Given the description of an element on the screen output the (x, y) to click on. 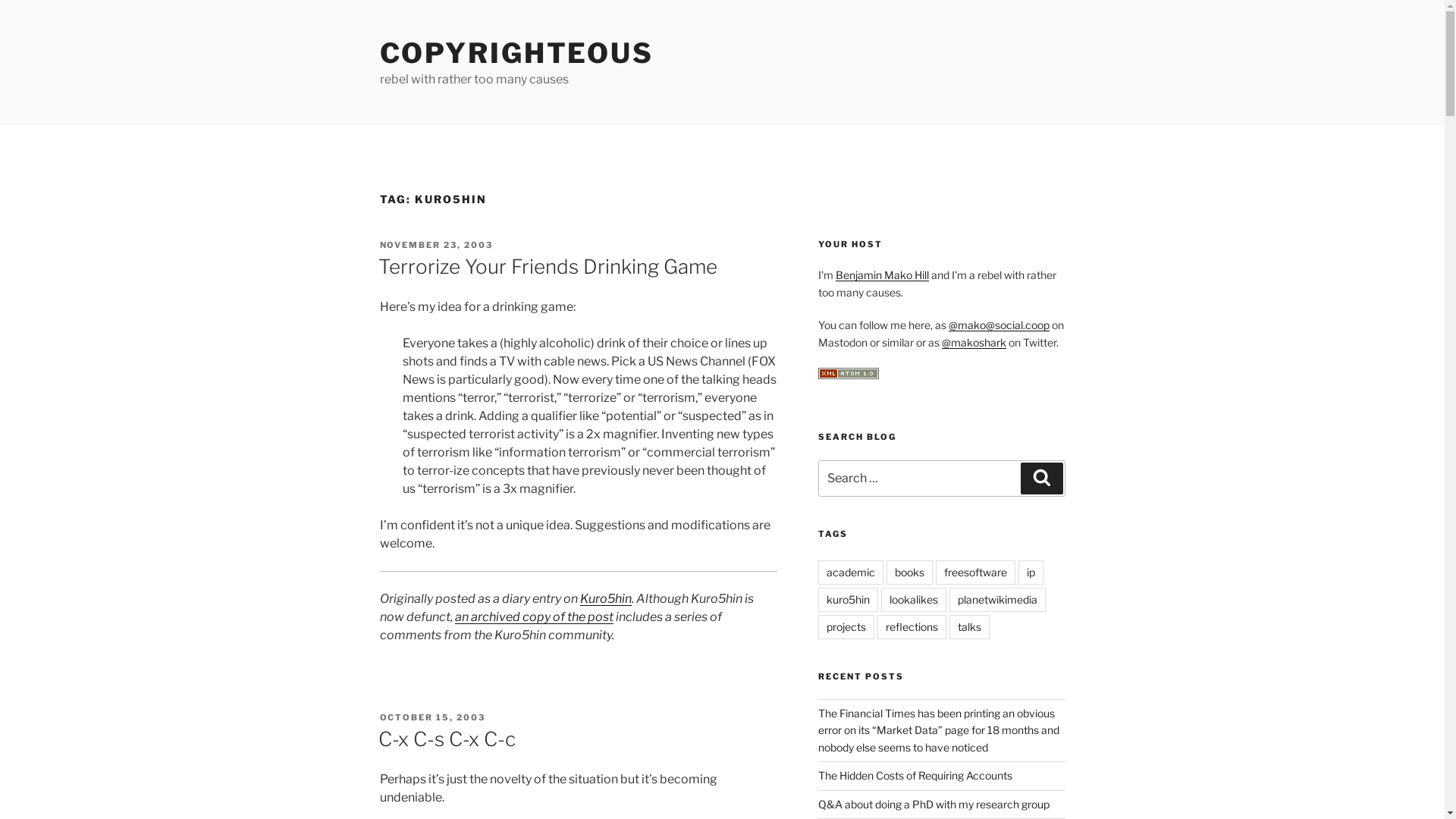
ip Element type: text (1030, 572)
an archived copy of the post Element type: text (534, 616)
The Hidden Costs of Requiring Accounts Element type: text (915, 774)
reflections Element type: text (911, 627)
academic Element type: text (850, 572)
C-x C-s C-x C-c Element type: text (445, 738)
lookalikes Element type: text (913, 599)
freesoftware Element type: text (975, 572)
Q&A about doing a PhD with my research group Element type: text (933, 803)
kuro5hin Element type: text (848, 599)
@mako@social.coop Element type: text (998, 324)
NOVEMBER 23, 2003 Element type: text (435, 244)
projects Element type: text (846, 627)
@makoshark Element type: text (973, 341)
OCTOBER 15, 2003 Element type: text (432, 717)
COPYRIGHTEOUS Element type: text (515, 52)
planetwikimedia Element type: text (997, 599)
Terrorize Your Friends Drinking Game Element type: text (546, 266)
books Element type: text (909, 572)
Benjamin Mako Hill Element type: text (881, 274)
Kuro5hin Element type: text (604, 598)
talks Element type: text (969, 627)
Search Element type: text (1041, 478)
